Given the description of an element on the screen output the (x, y) to click on. 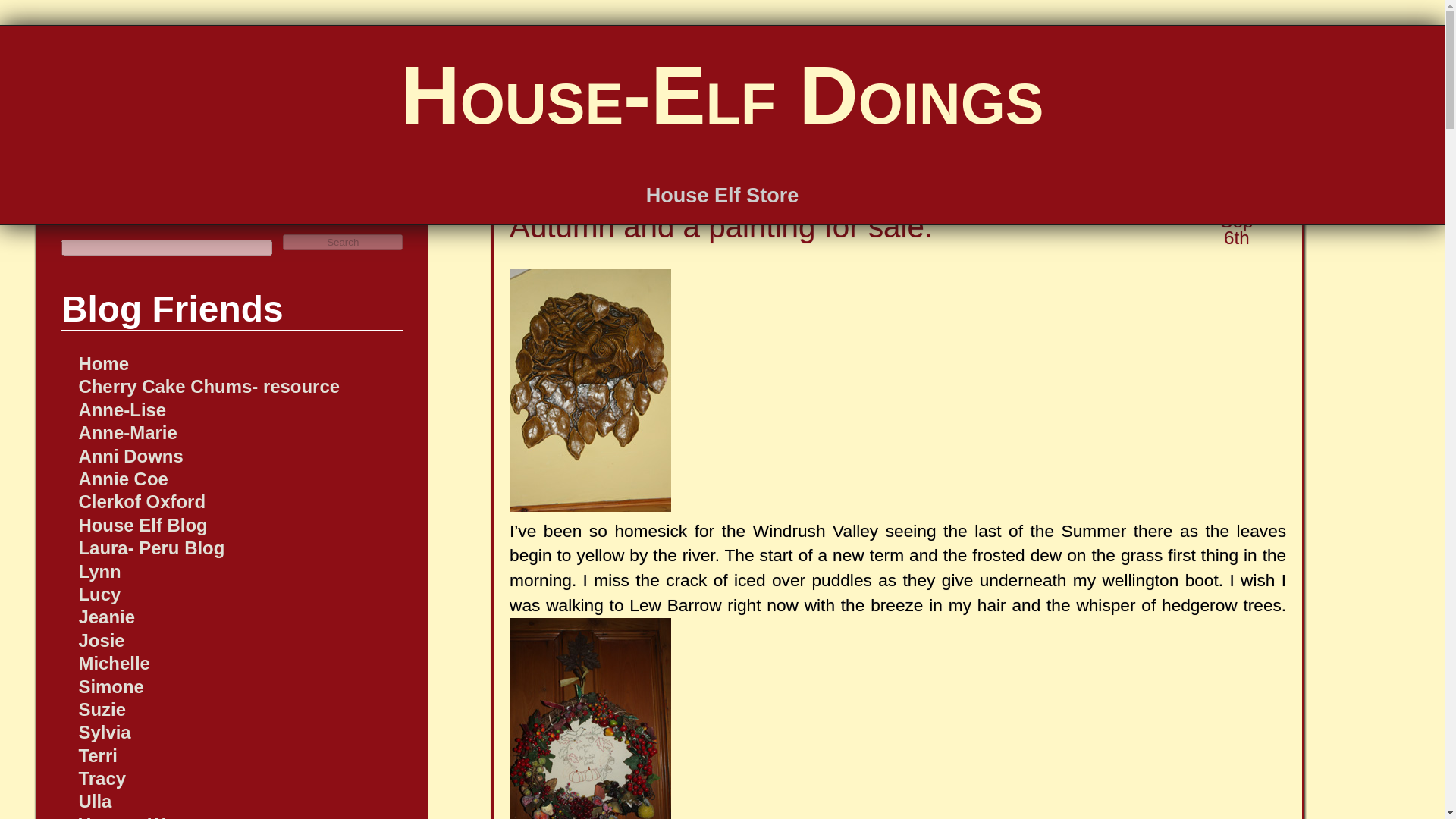
Laura- Peru Blog (151, 547)
Jeanie (106, 616)
House Elf Blog (142, 525)
House Elf Store (722, 195)
Lucy (99, 593)
House-Elf Doings (721, 94)
Anne-Lise (121, 409)
Search (342, 242)
Anni Downs (130, 455)
Lynn (99, 571)
